Given the description of an element on the screen output the (x, y) to click on. 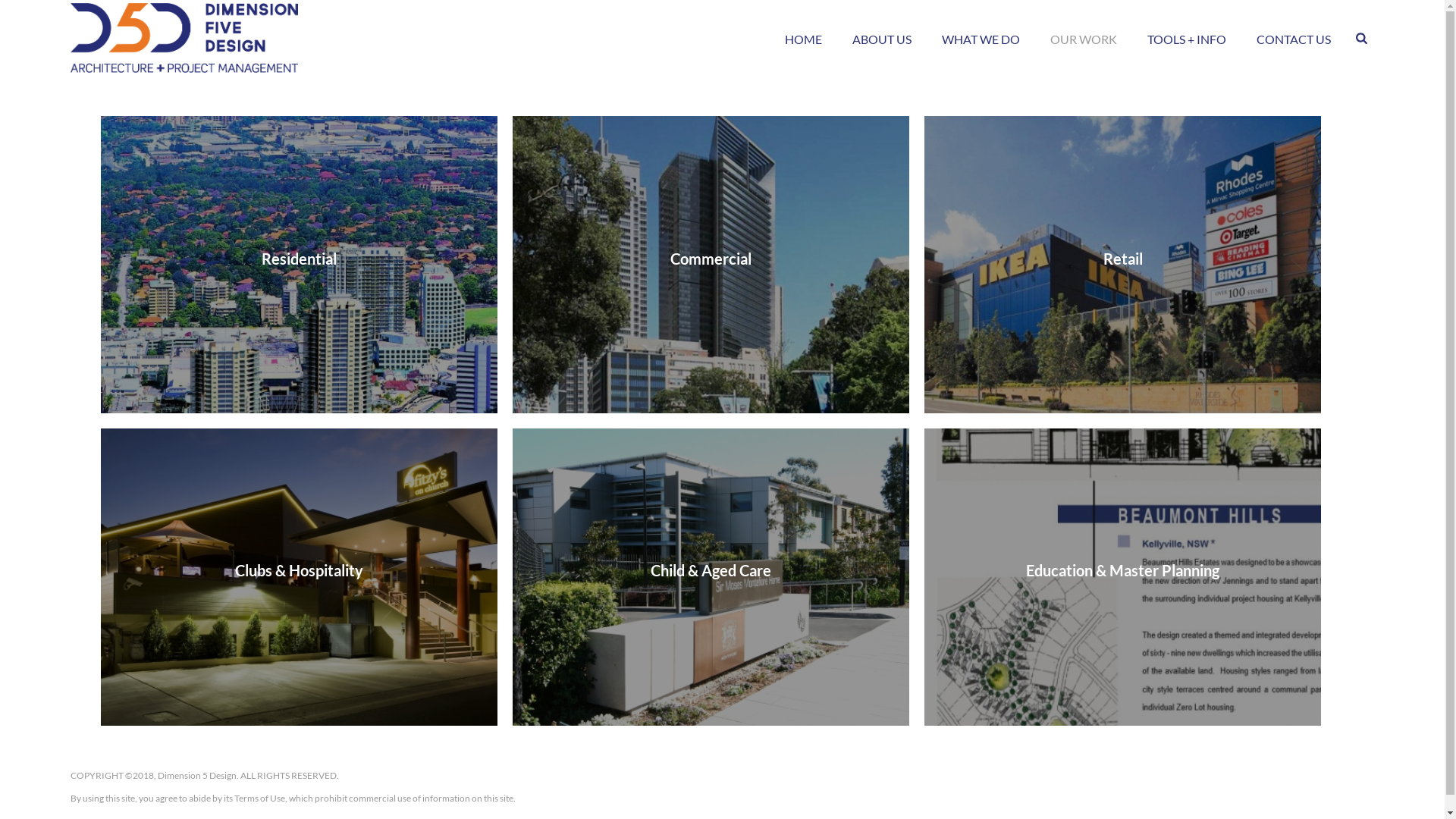
HOME Element type: text (803, 37)
WHAT WE DO Element type: text (980, 37)
ABOUT US Element type: text (881, 37)
TOOLS + INFO Element type: text (1186, 37)
CONTACT US Element type: text (1293, 37)
OUR WORK Element type: text (1083, 37)
Architecture & Project Management Element type: hover (183, 37)
